Given the description of an element on the screen output the (x, y) to click on. 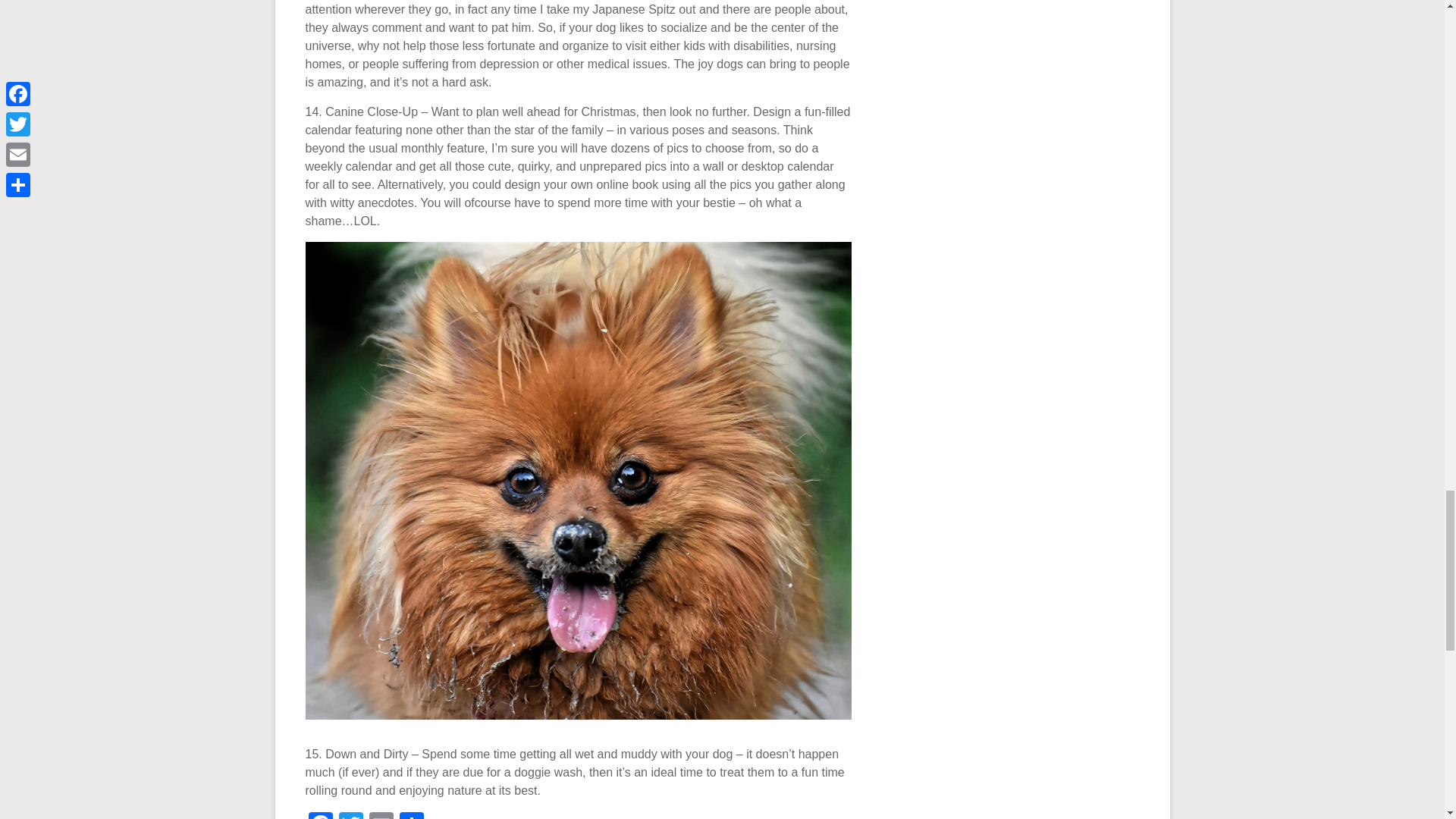
Email (380, 815)
Email (380, 815)
Facebook (319, 815)
Twitter (349, 815)
Twitter (349, 815)
Facebook (319, 815)
Share (411, 815)
